Given the description of an element on the screen output the (x, y) to click on. 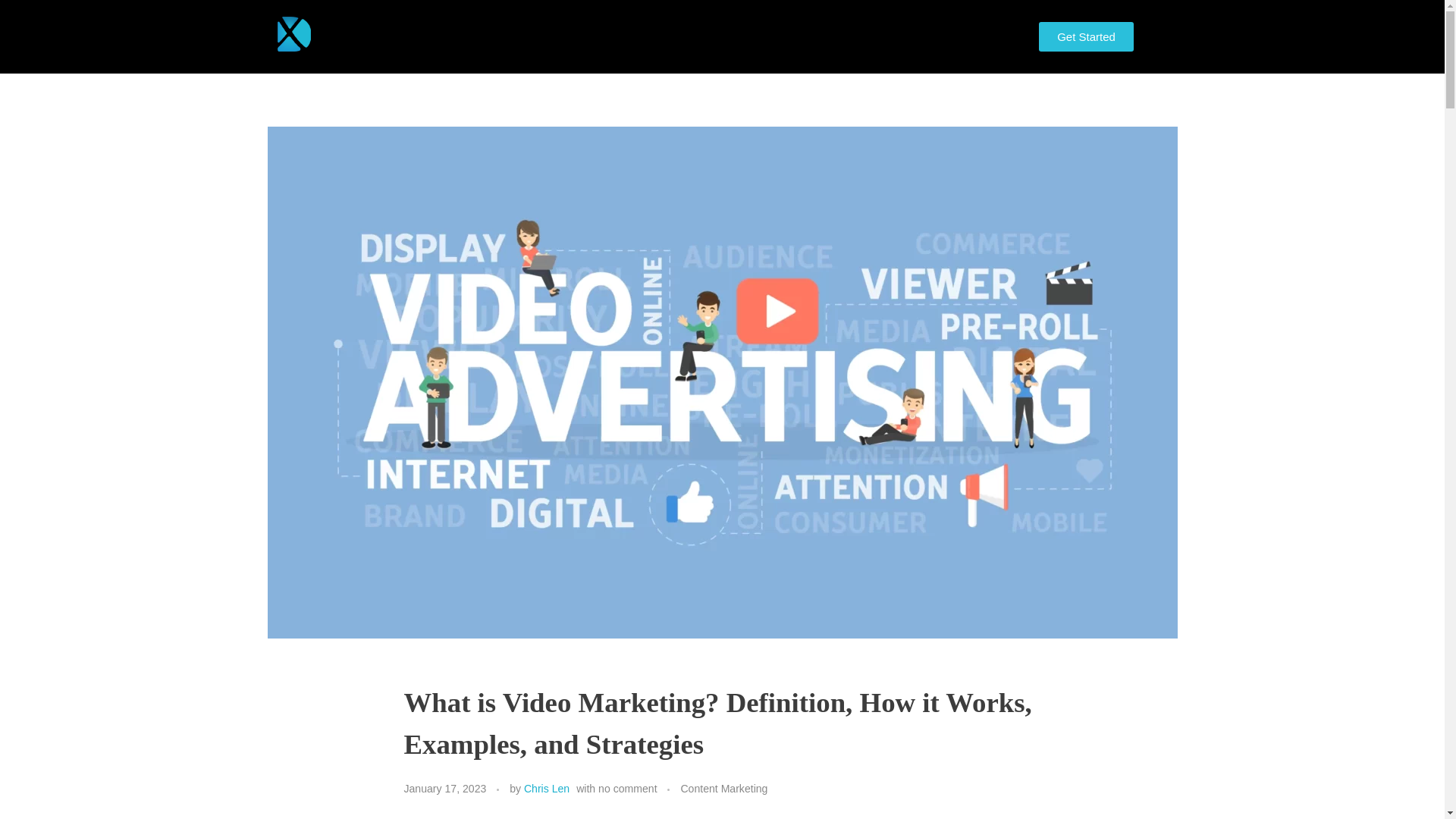
Chris Len (546, 788)
View all posts by Chris Len (546, 788)
Get Started (1086, 36)
Dexterous Solutions (363, 61)
Content Marketing (723, 788)
Dexterous Solutions (363, 61)
Dexterous Solutions (294, 34)
View all posts in Content Marketing (723, 788)
